Given the description of an element on the screen output the (x, y) to click on. 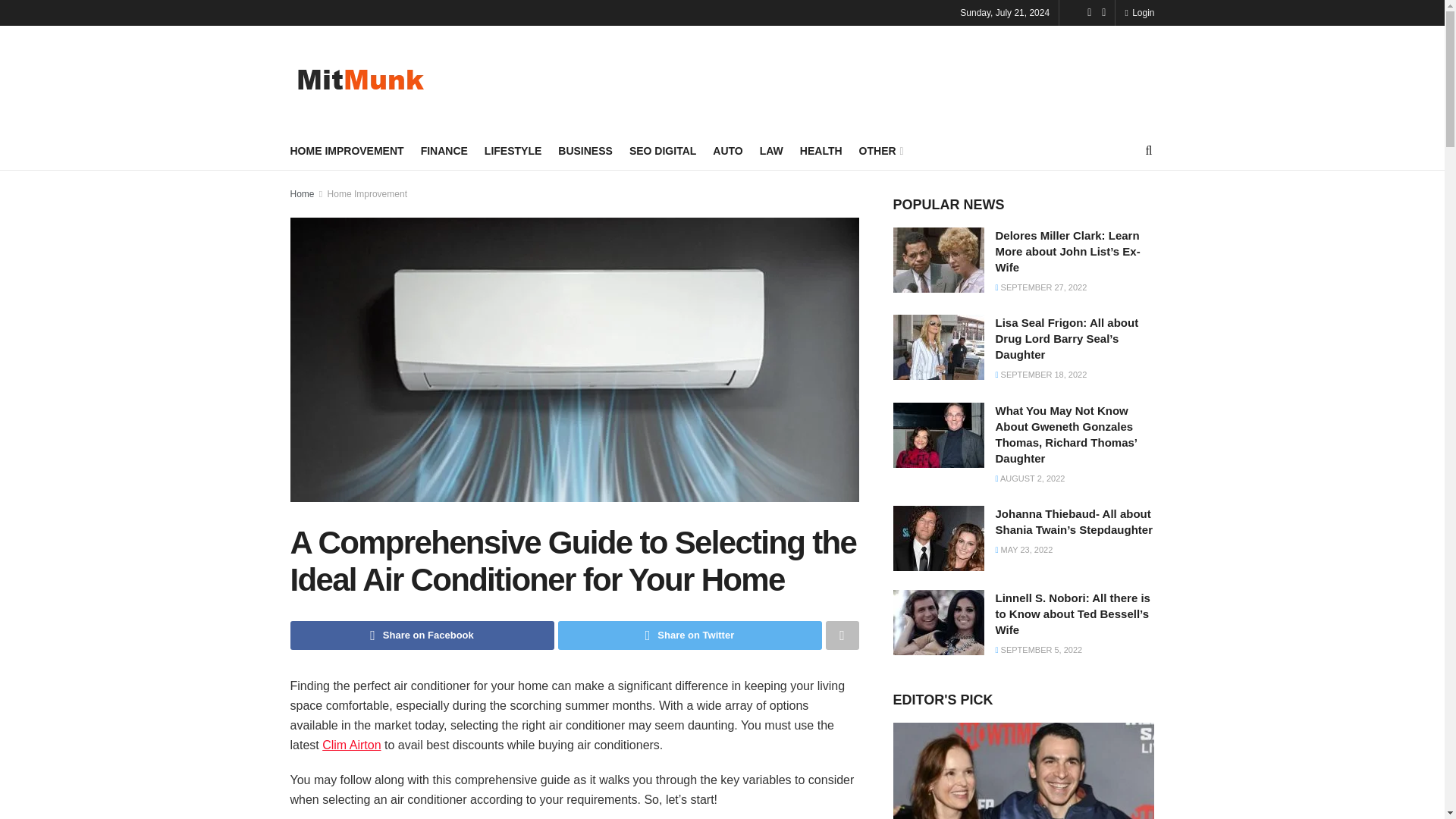
LAW (771, 150)
HEALTH (821, 150)
OTHER (880, 150)
SEO DIGITAL (661, 150)
Login (1139, 12)
LIFESTYLE (512, 150)
BUSINESS (584, 150)
FINANCE (443, 150)
AUTO (727, 150)
HOME IMPROVEMENT (346, 150)
